Given the description of an element on the screen output the (x, y) to click on. 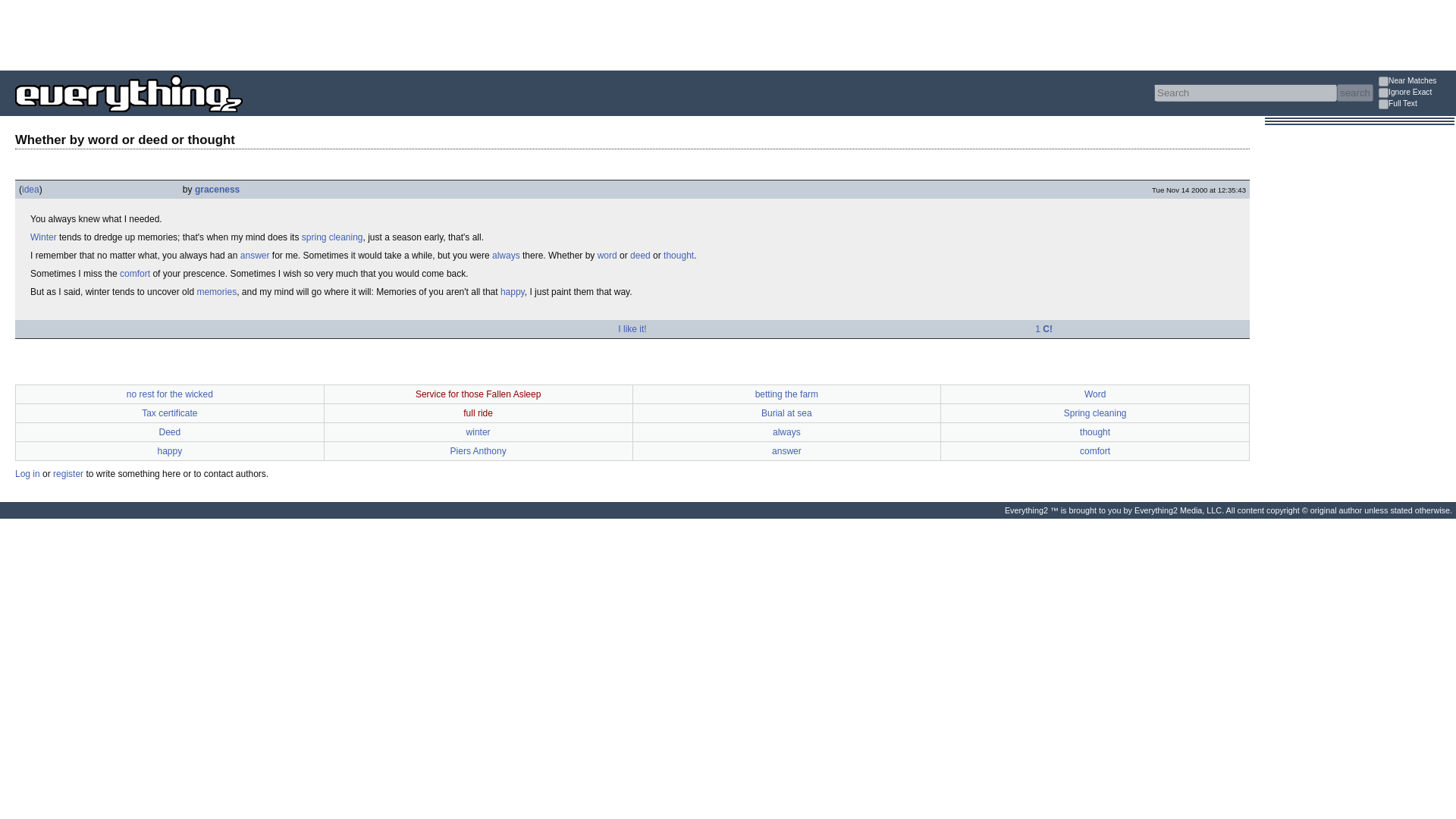
thought (1094, 431)
always (786, 431)
login (27, 473)
Search within Everything2 (1354, 92)
Everything (242, 117)
1 (1383, 81)
1 users found this writeup COOL (1043, 328)
thought (678, 255)
Service for those Fallen Asleep (477, 394)
Tax certificate (168, 412)
